Given the description of an element on the screen output the (x, y) to click on. 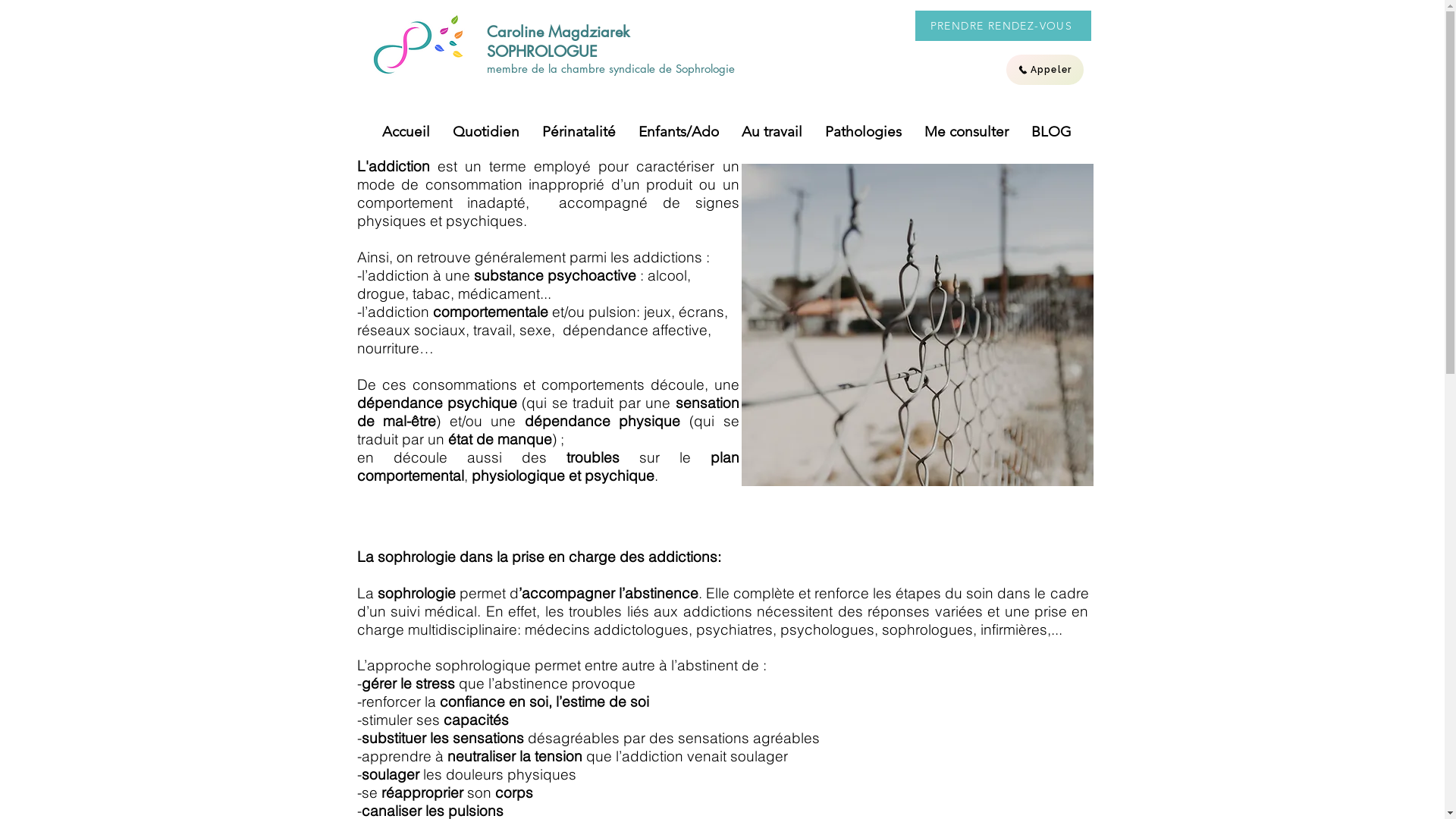
SOPHROLOGUE  Element type: text (544, 51)
Caroline Magdziarek Element type: text (557, 31)
Accueil Element type: text (405, 131)
sophrologues Element type: text (926, 629)
BLOG Element type: text (1050, 131)
PRENDRE RENDEZ-VOUS Element type: text (1002, 25)
Appeler Element type: text (1043, 69)
